Given the description of an element on the screen output the (x, y) to click on. 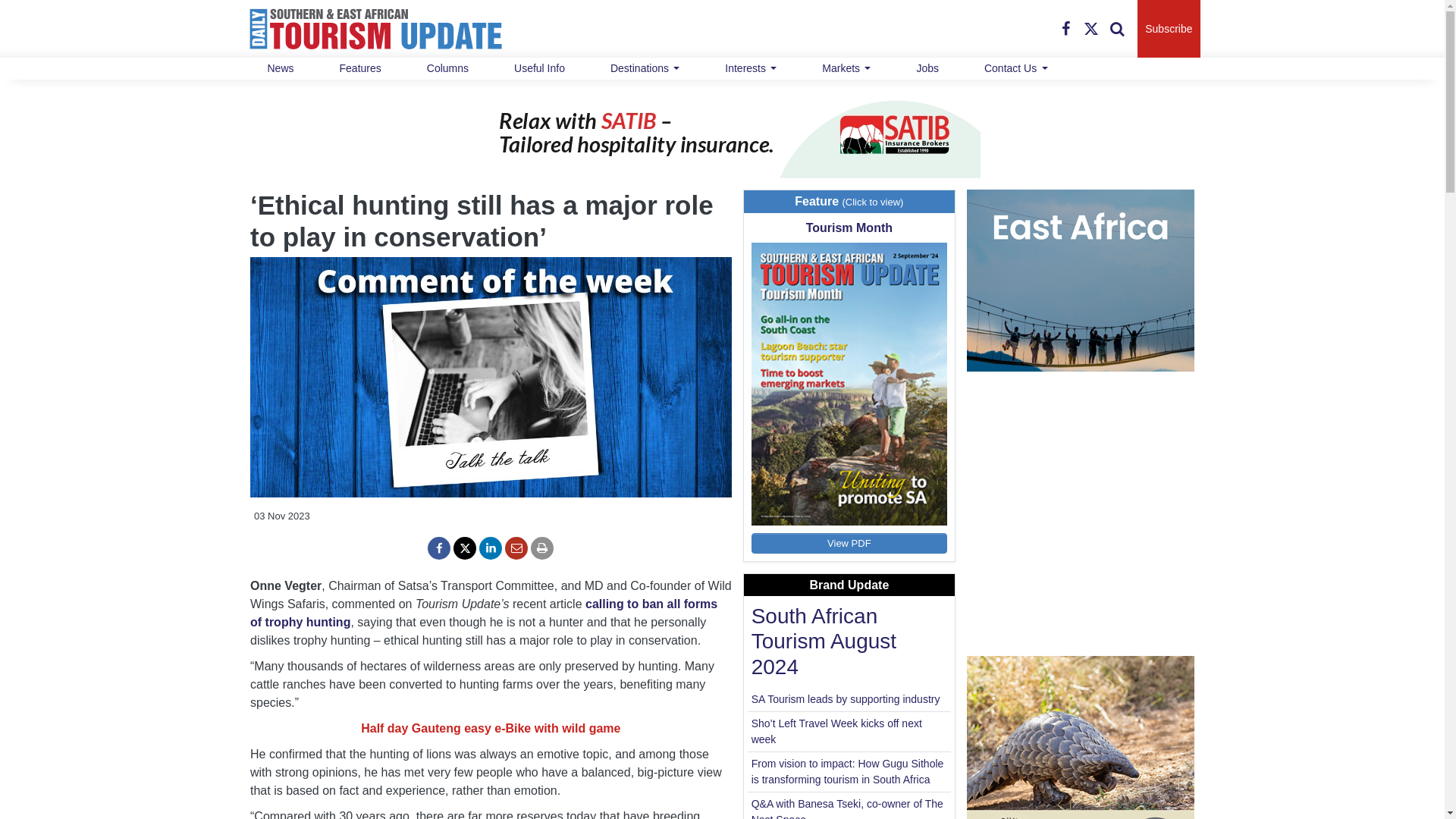
Facebook (1065, 28)
Columns (448, 68)
Twitter (1091, 28)
Home (375, 29)
Features (360, 68)
Facebook (1065, 28)
News (279, 68)
Subscribe (1168, 28)
Destinations (644, 68)
Search (1116, 28)
